Given the description of an element on the screen output the (x, y) to click on. 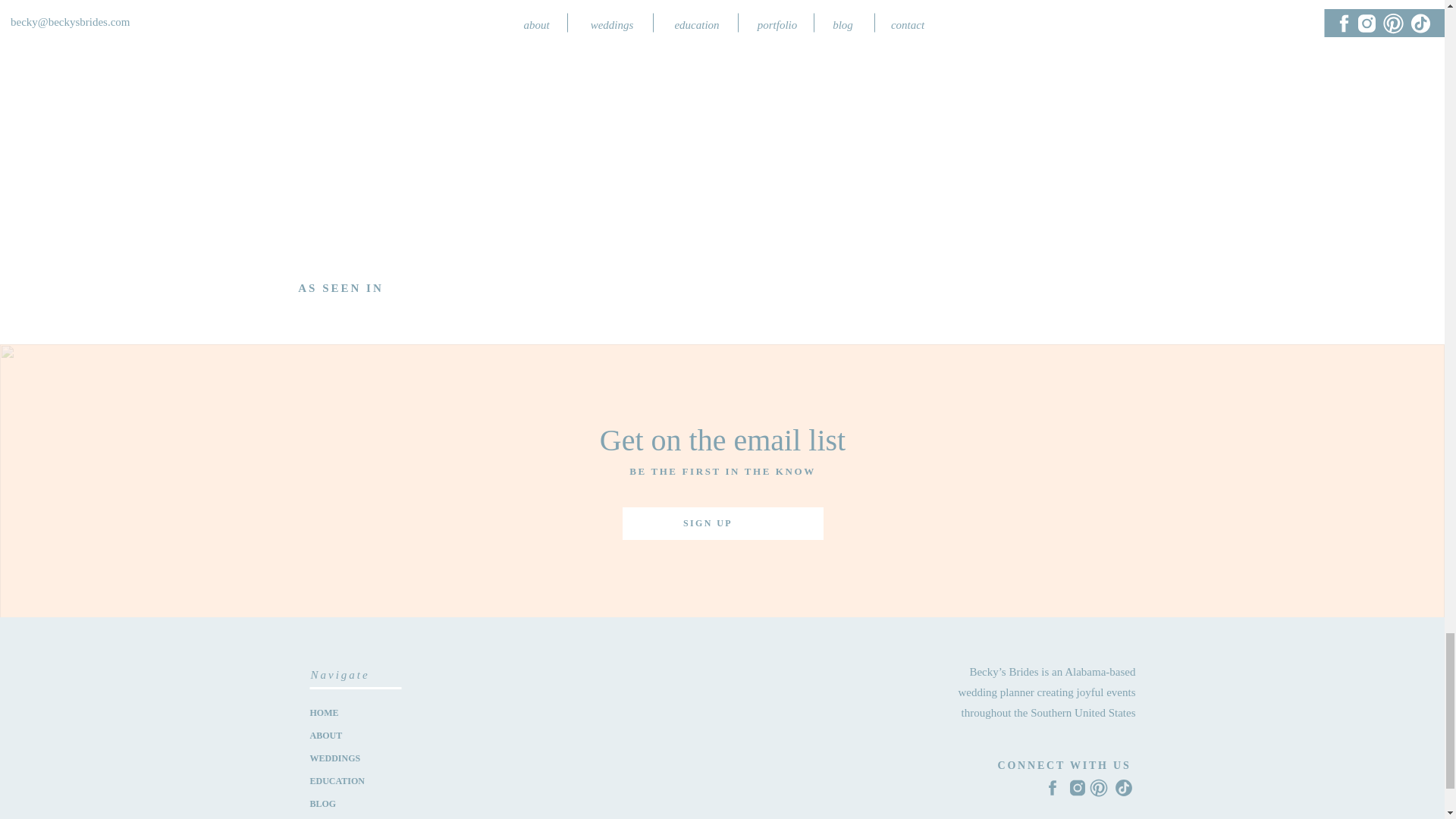
WEDDINGS (354, 757)
BLOG (354, 802)
SIGN UP (707, 523)
INQUIRE (354, 818)
HOME (354, 710)
EDUCATION (354, 780)
ABOUT (354, 734)
